Given the description of an element on the screen output the (x, y) to click on. 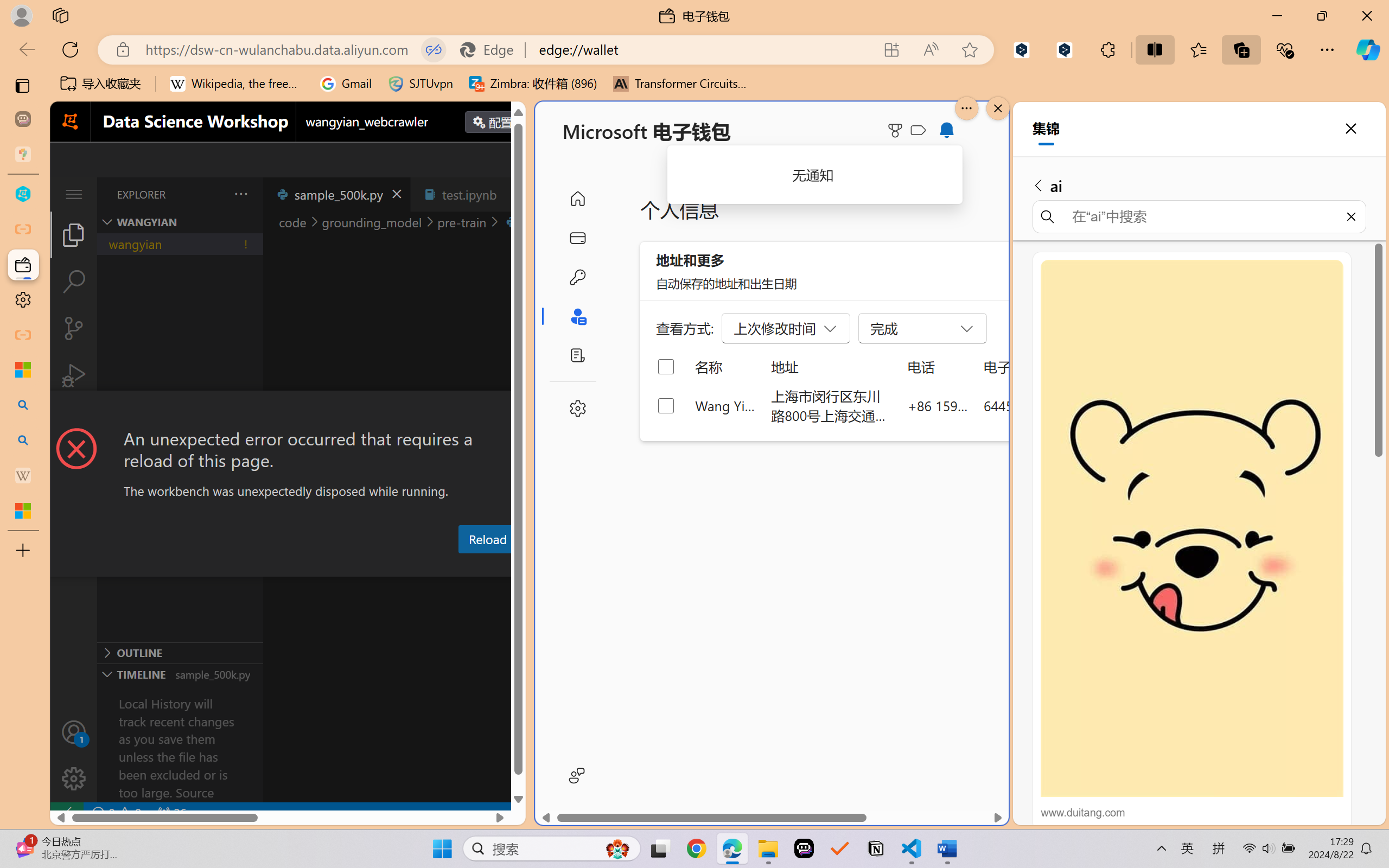
Problems (Ctrl+Shift+M) (308, 565)
Class: menubar compact overflow-menu-only (73, 194)
Explorer (Ctrl+Shift+E) (73, 234)
Class: ___1lmltc5 f1agt3bx f12qytpq (917, 130)
